Given the description of an element on the screen output the (x, y) to click on. 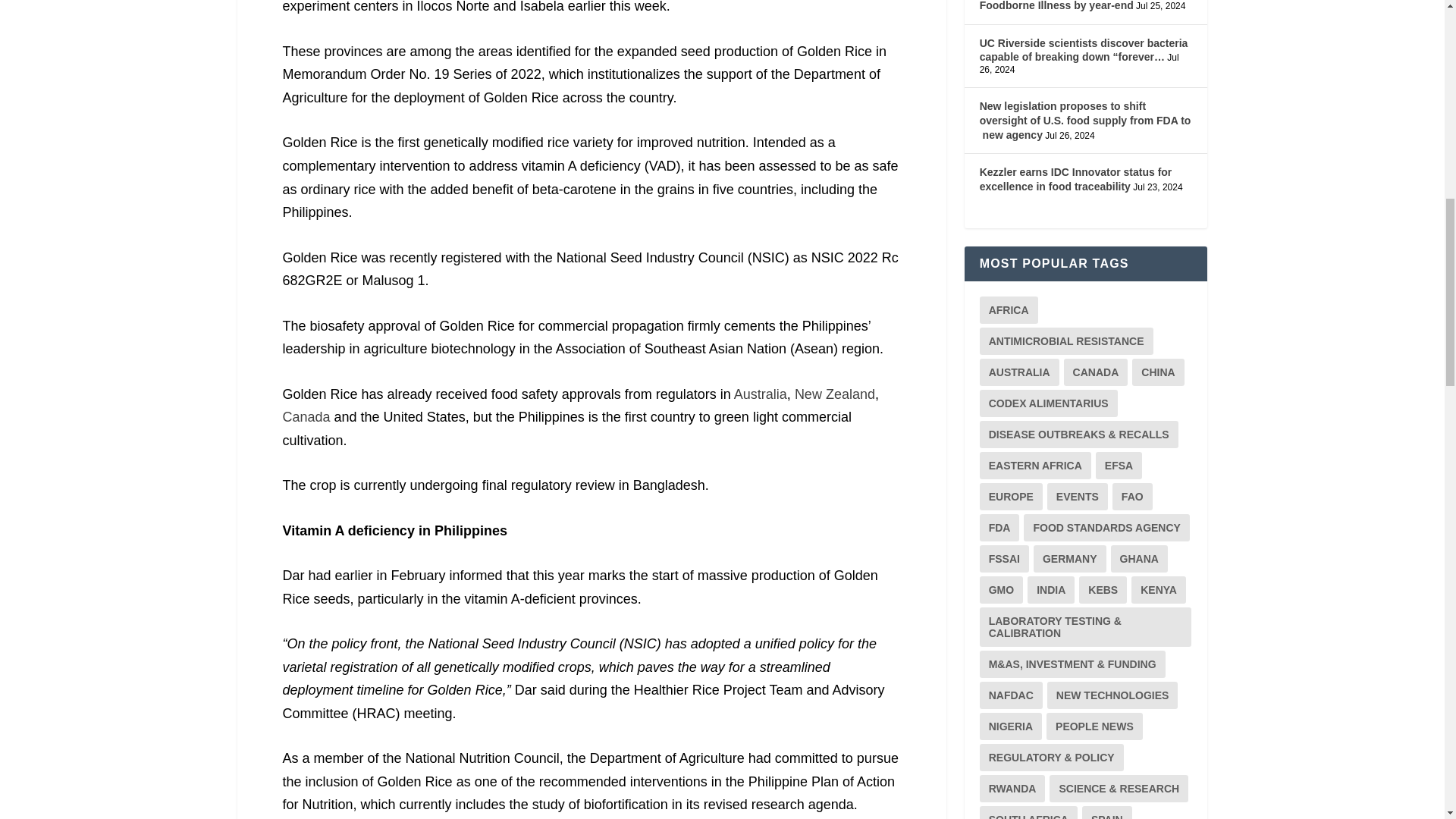
New Zealand (834, 394)
Canada (306, 417)
Australia (760, 394)
